Given the description of an element on the screen output the (x, y) to click on. 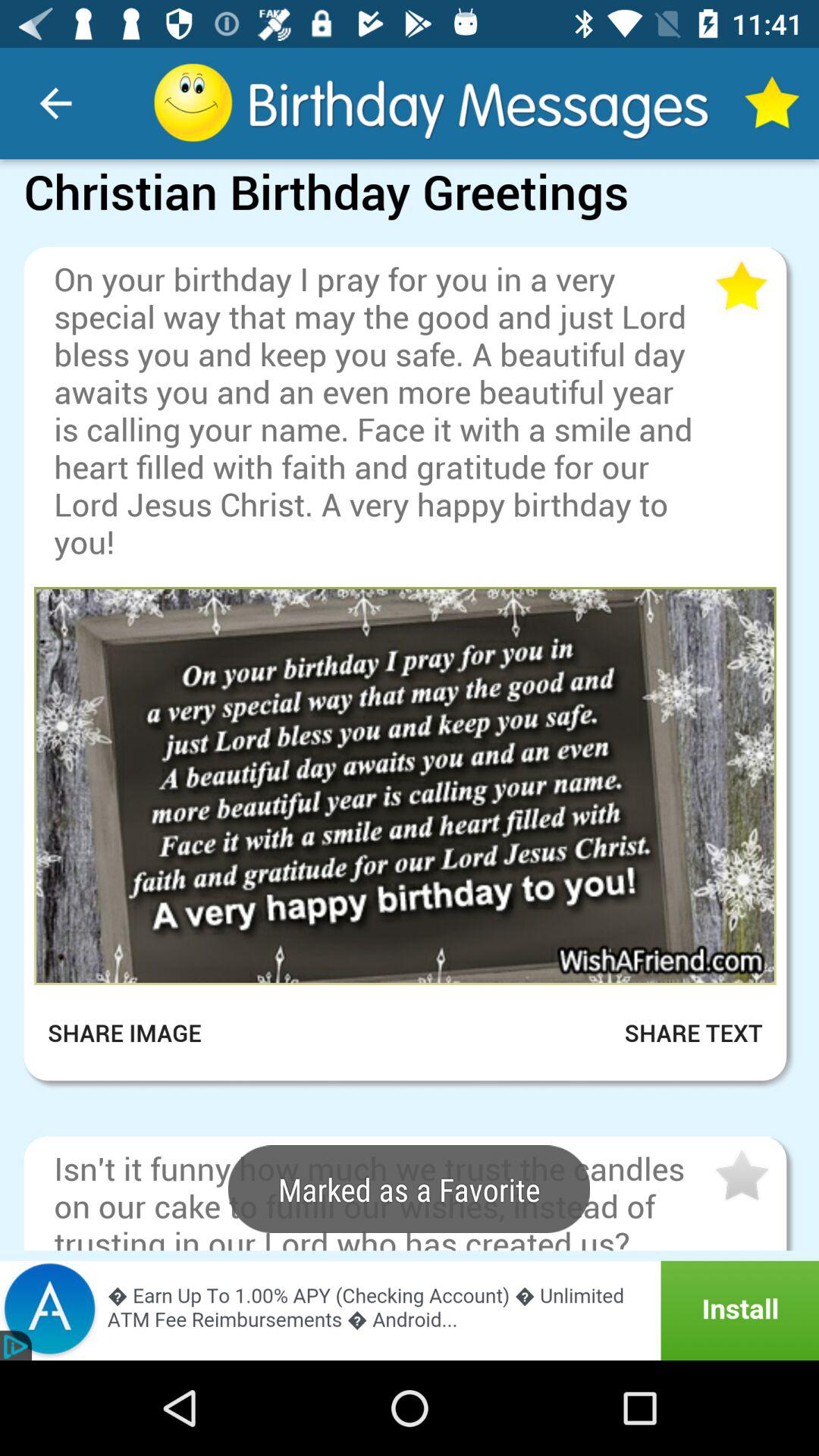
go to favorite (740, 286)
